Given the description of an element on the screen output the (x, y) to click on. 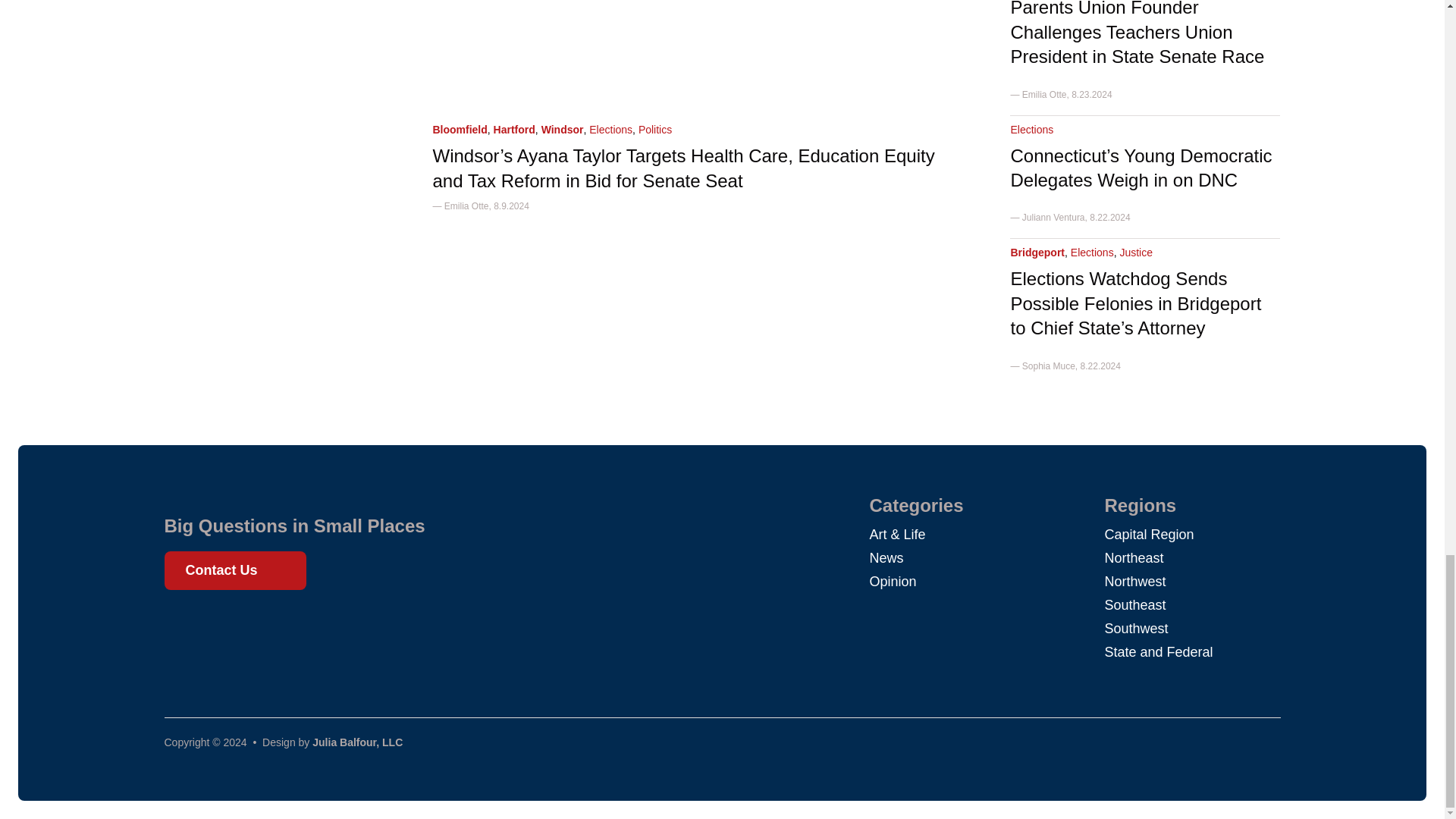
twitter (210, 624)
facebook (183, 624)
instagram (238, 624)
